Given the description of an element on the screen output the (x, y) to click on. 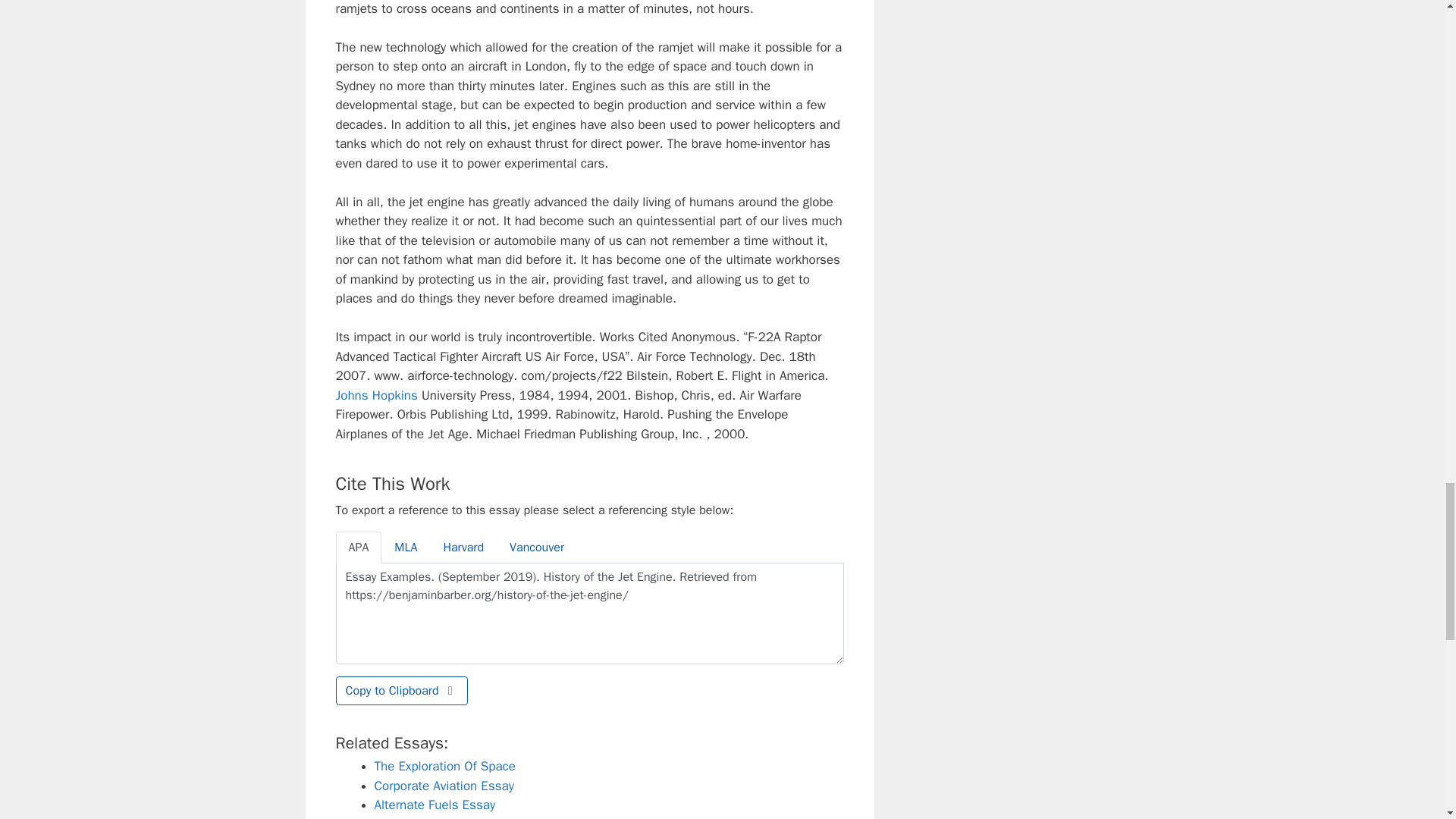
APA (357, 547)
Copy to Clipboard (400, 690)
Alternate Fuels Essay (435, 804)
The Exploration Of Space (444, 765)
Corporate Aviation Essay (443, 785)
The Exploration Of Space (444, 765)
Corporate Aviation Essay (443, 785)
Johns Hopkins (375, 395)
Harvard (462, 547)
History of Cars By Kenny Carroll (463, 817)
